Given the description of an element on the screen output the (x, y) to click on. 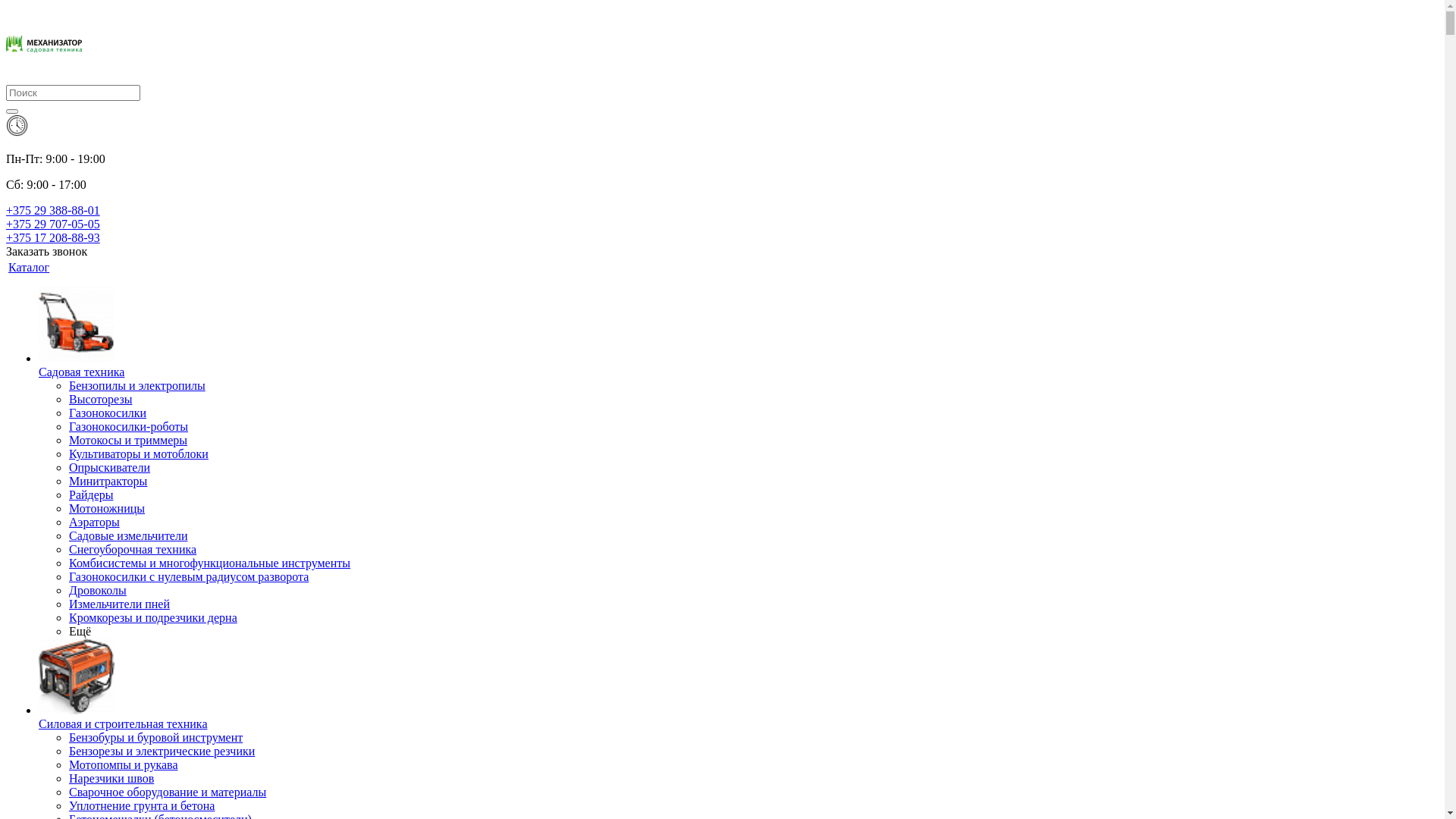
+375 29 707-05-05 Element type: text (53, 223)
+375 17 208-88-93 Element type: text (53, 237)
+375 29 388-88-01 Element type: text (53, 209)
